Given the description of an element on the screen output the (x, y) to click on. 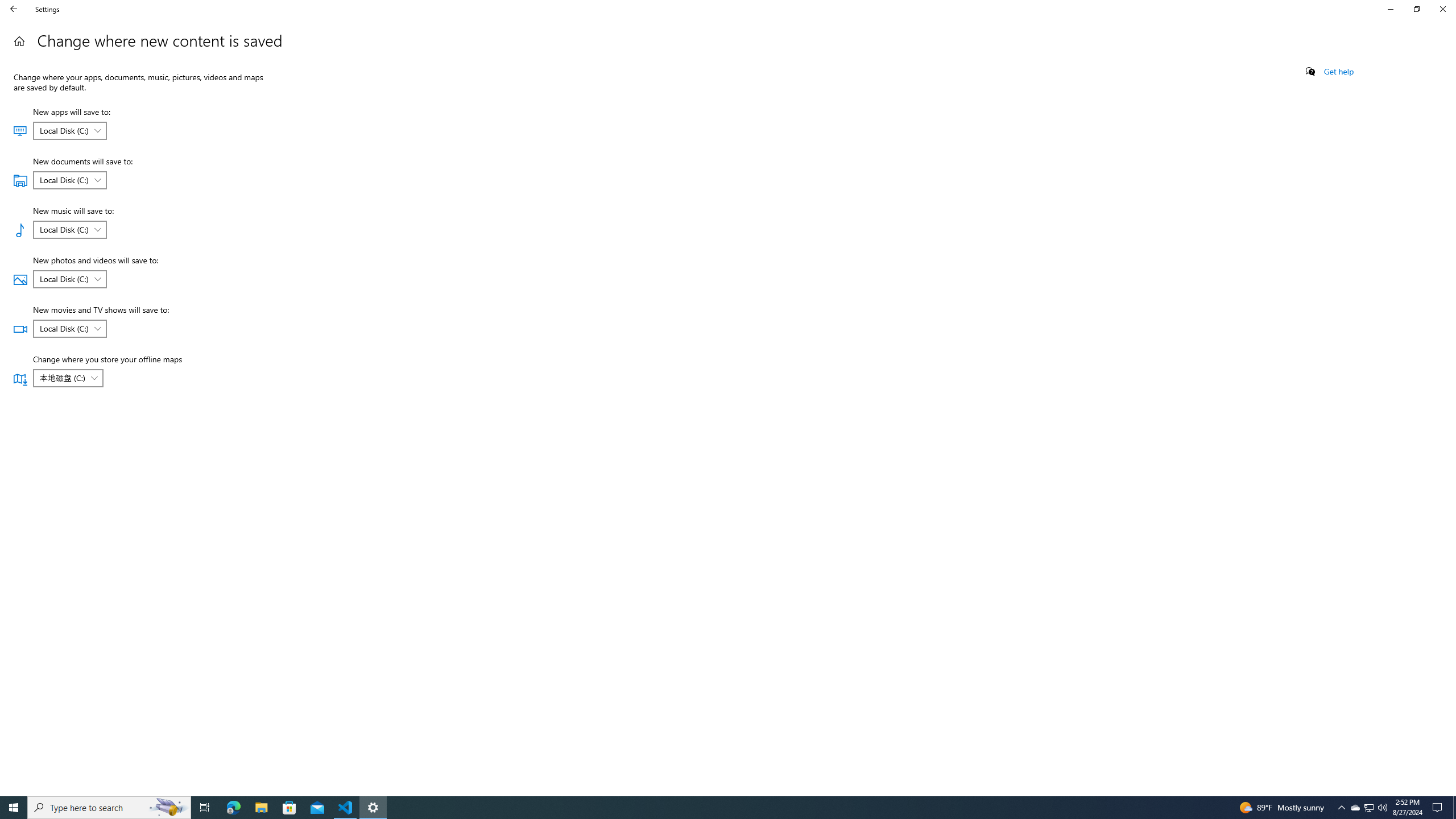
New photos and videos will save to: (69, 279)
Visual Studio Code - 1 running window (345, 807)
Notification Chevron (1341, 807)
Restore Settings (1416, 9)
Microsoft Edge (233, 807)
Close Settings (1442, 9)
Action Center, No new notifications (1439, 807)
User Promoted Notification Area (1368, 807)
Get help (1338, 71)
Settings - 1 running window (373, 807)
Minimize Settings (1390, 9)
Type here to search (108, 807)
